Given the description of an element on the screen output the (x, y) to click on. 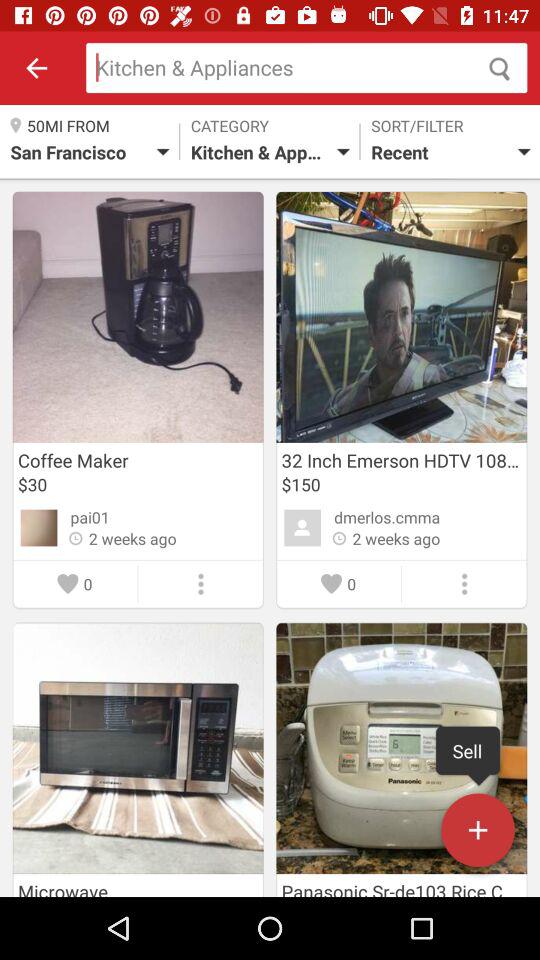
select the icon on left to the text dmerloscmma on the web page (302, 527)
the three vertical dot icon in the first left image from the top (201, 583)
click on pai01 (90, 517)
click on image below coffee maker (138, 759)
click on image right to coffee maker (401, 317)
click on the add symbol in the fourth  image (478, 834)
click on three vertical dots below dmerloscmma (464, 583)
